Given the description of an element on the screen output the (x, y) to click on. 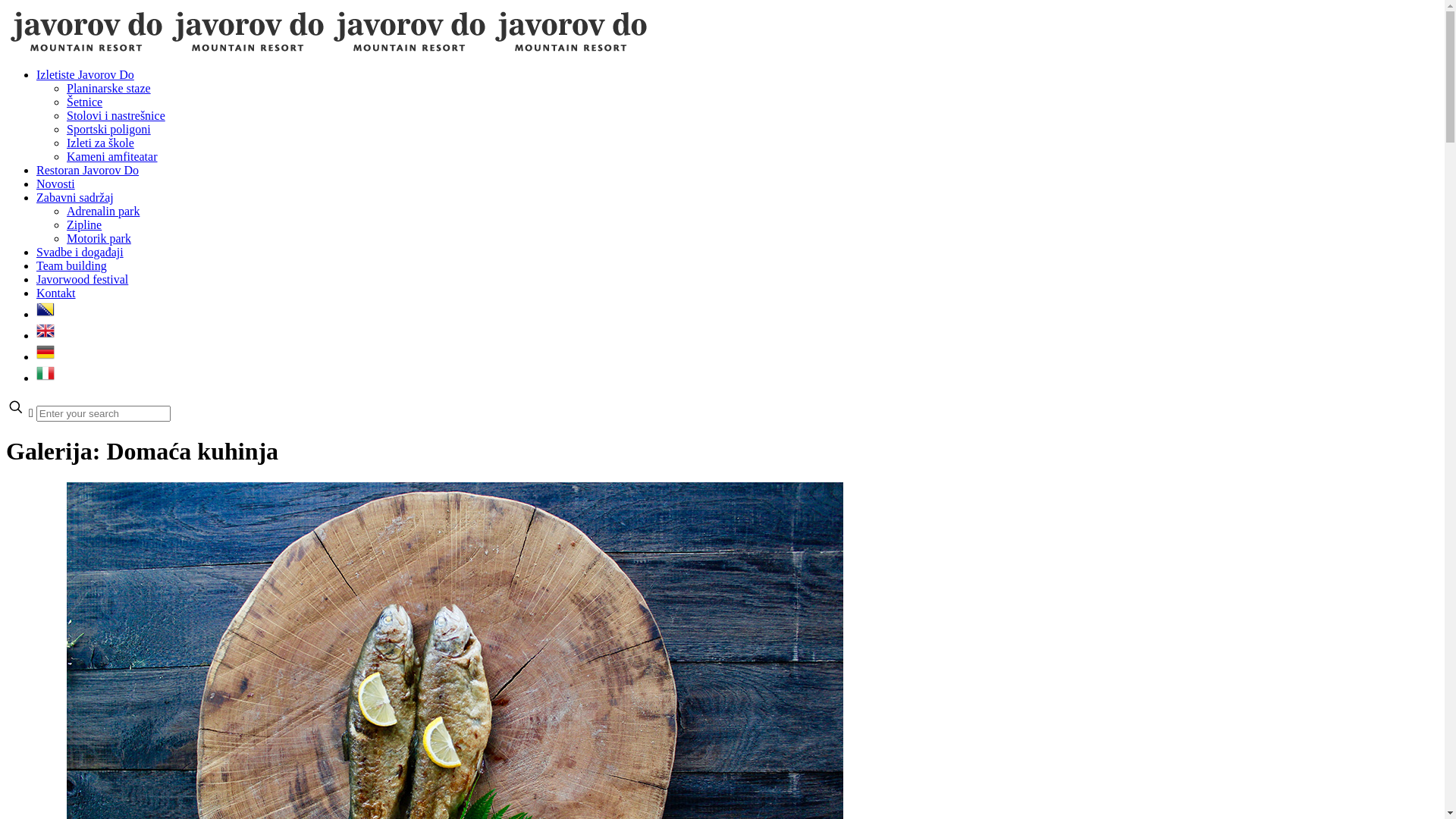
Sportski poligoni Element type: text (108, 128)
Italian Element type: hover (45, 377)
Planinarske staze Element type: text (108, 87)
Adrenalin park Element type: text (102, 210)
English Element type: hover (45, 335)
Team building Element type: text (71, 265)
Motorik park Element type: text (98, 238)
German Element type: hover (45, 356)
Kameni amfiteatar Element type: text (111, 156)
Izletiste Javorov Do Element type: text (85, 74)
Bosnian Element type: hover (45, 313)
Kontakt Element type: text (55, 292)
Zipline Element type: text (83, 224)
Restoran Javorov Do Element type: text (87, 169)
Novosti Element type: text (55, 183)
Javorwood festival Element type: text (82, 279)
Javorov Do Element type: hover (329, 48)
